Given the description of an element on the screen output the (x, y) to click on. 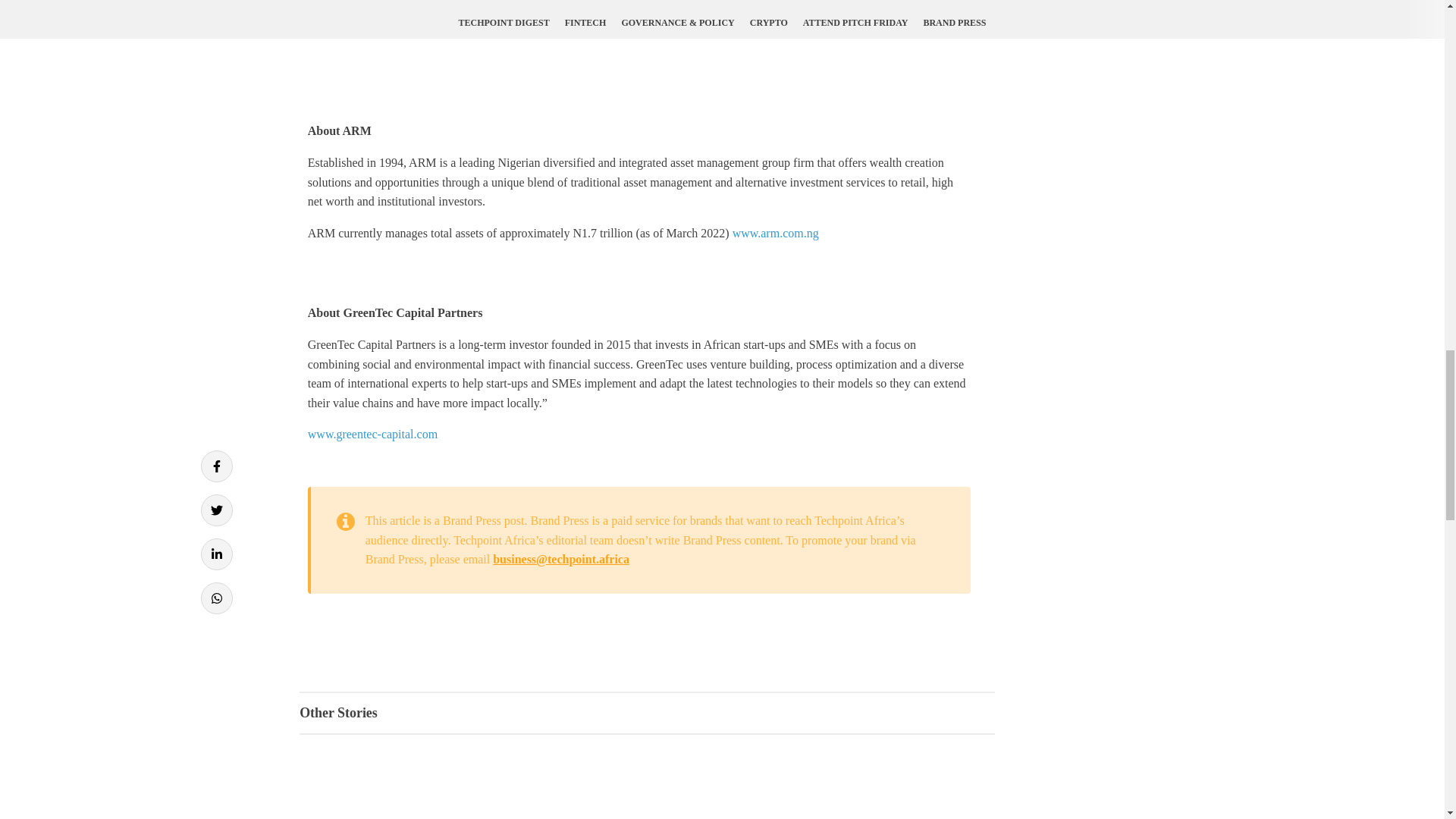
ARM announces the ARM Labs Innovation Program Demo Day 1 (639, 53)
www.greentec-capital.com (372, 433)
www.arm.com.ng (775, 232)
